Given the description of an element on the screen output the (x, y) to click on. 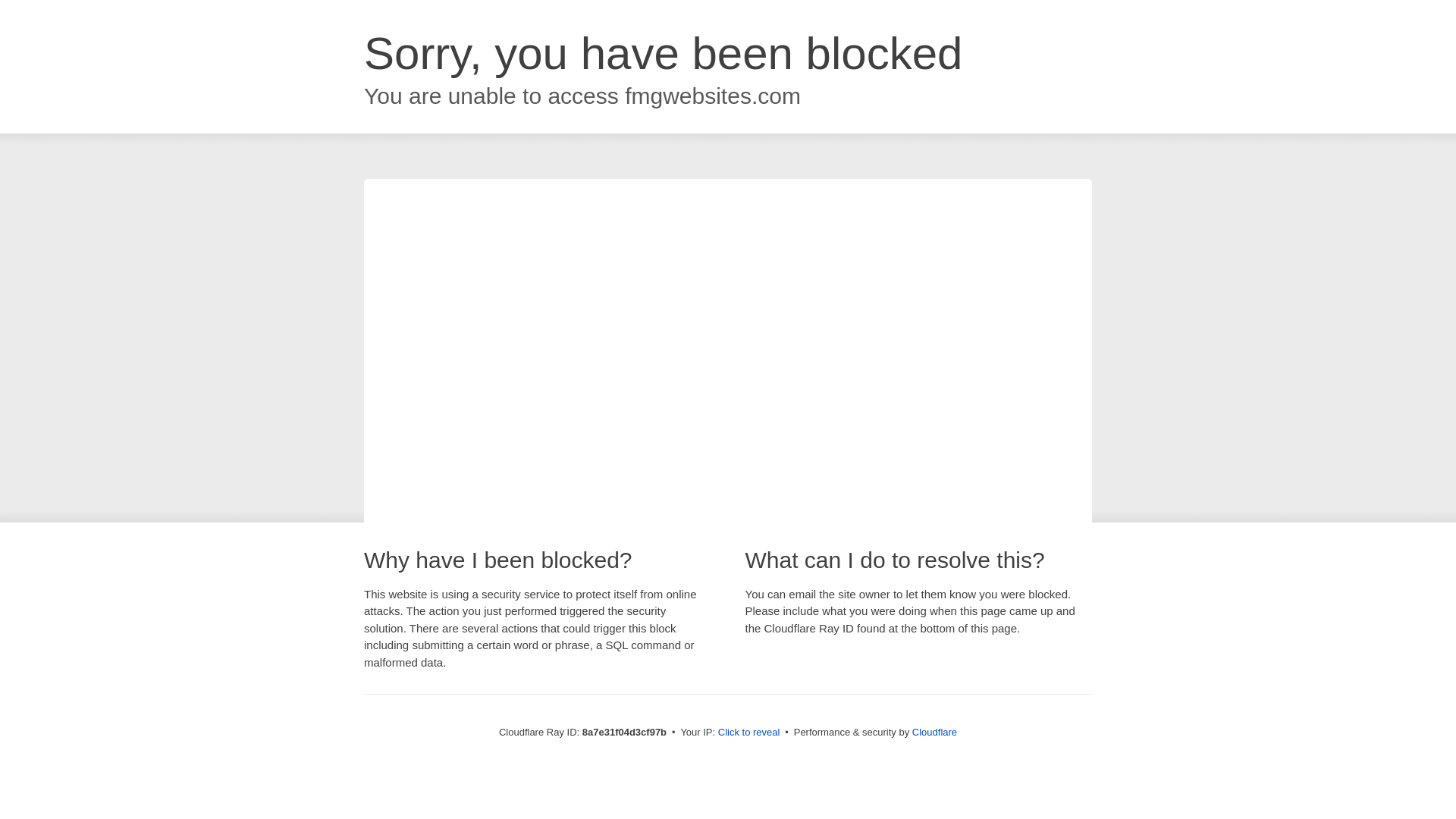
Click to reveal (748, 732)
Cloudflare (934, 731)
